Given the description of an element on the screen output the (x, y) to click on. 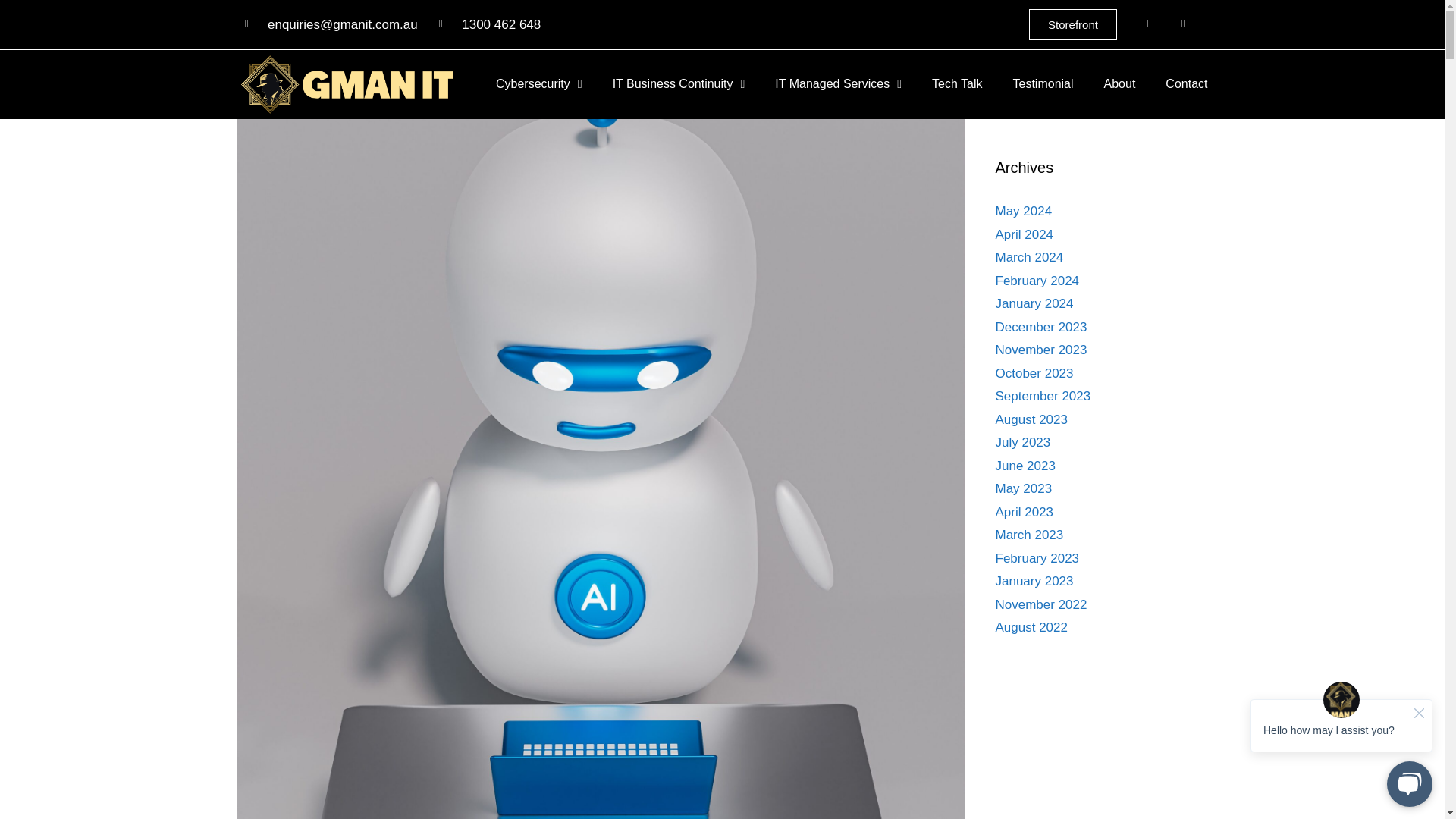
IT Business Continuity (678, 83)
Storefront (1072, 24)
Cybersecurity (539, 83)
1300 462 648 (490, 25)
IT Managed Services (837, 83)
Contact (1186, 83)
Testimonial (1043, 83)
Tech Talk (956, 83)
About (1119, 83)
